Given the description of an element on the screen output the (x, y) to click on. 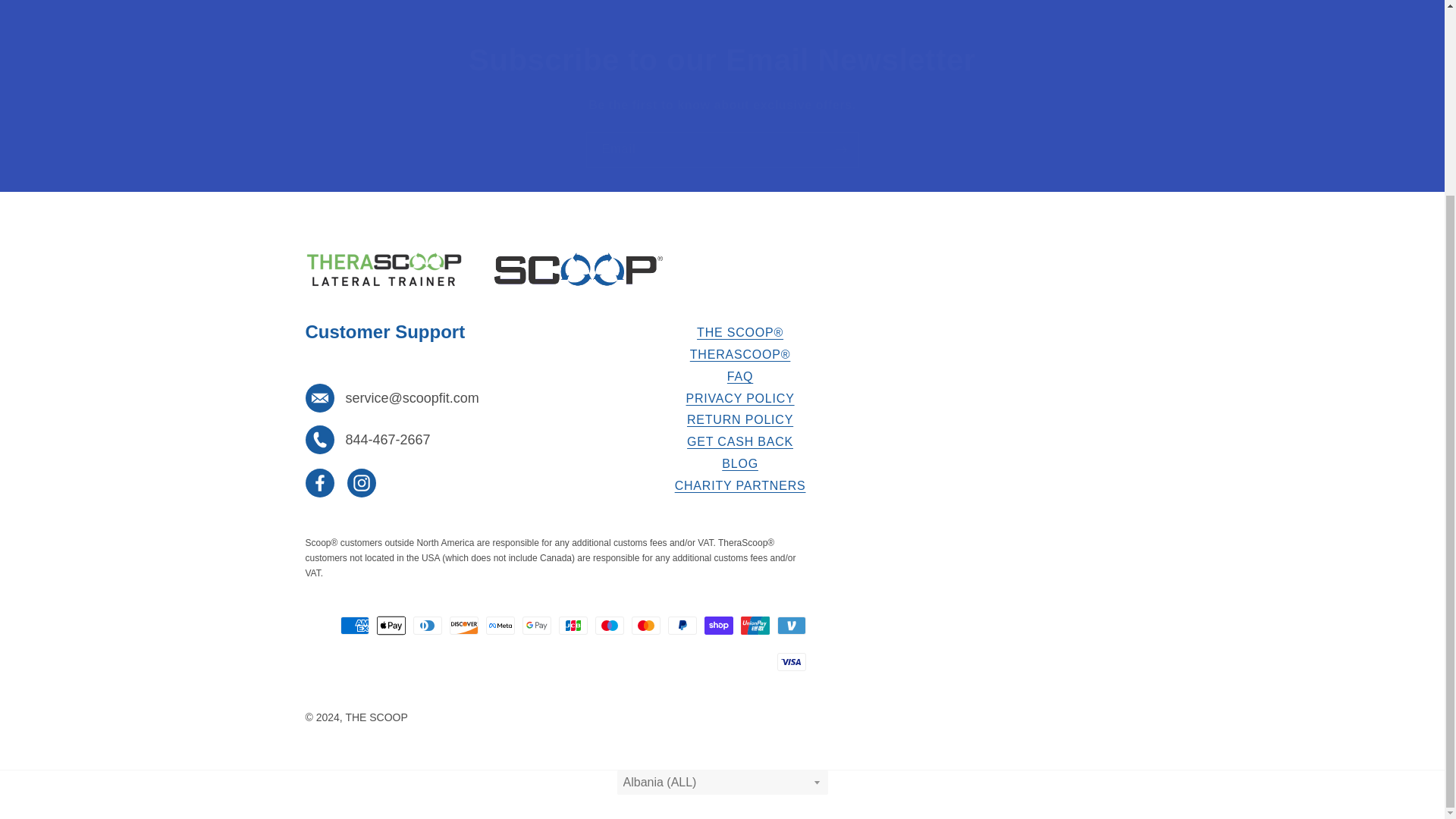
Subscribe to our Email Newsletter (721, 59)
Be the first to know about exclusive offers. (722, 106)
Email (722, 149)
